Given the description of an element on the screen output the (x, y) to click on. 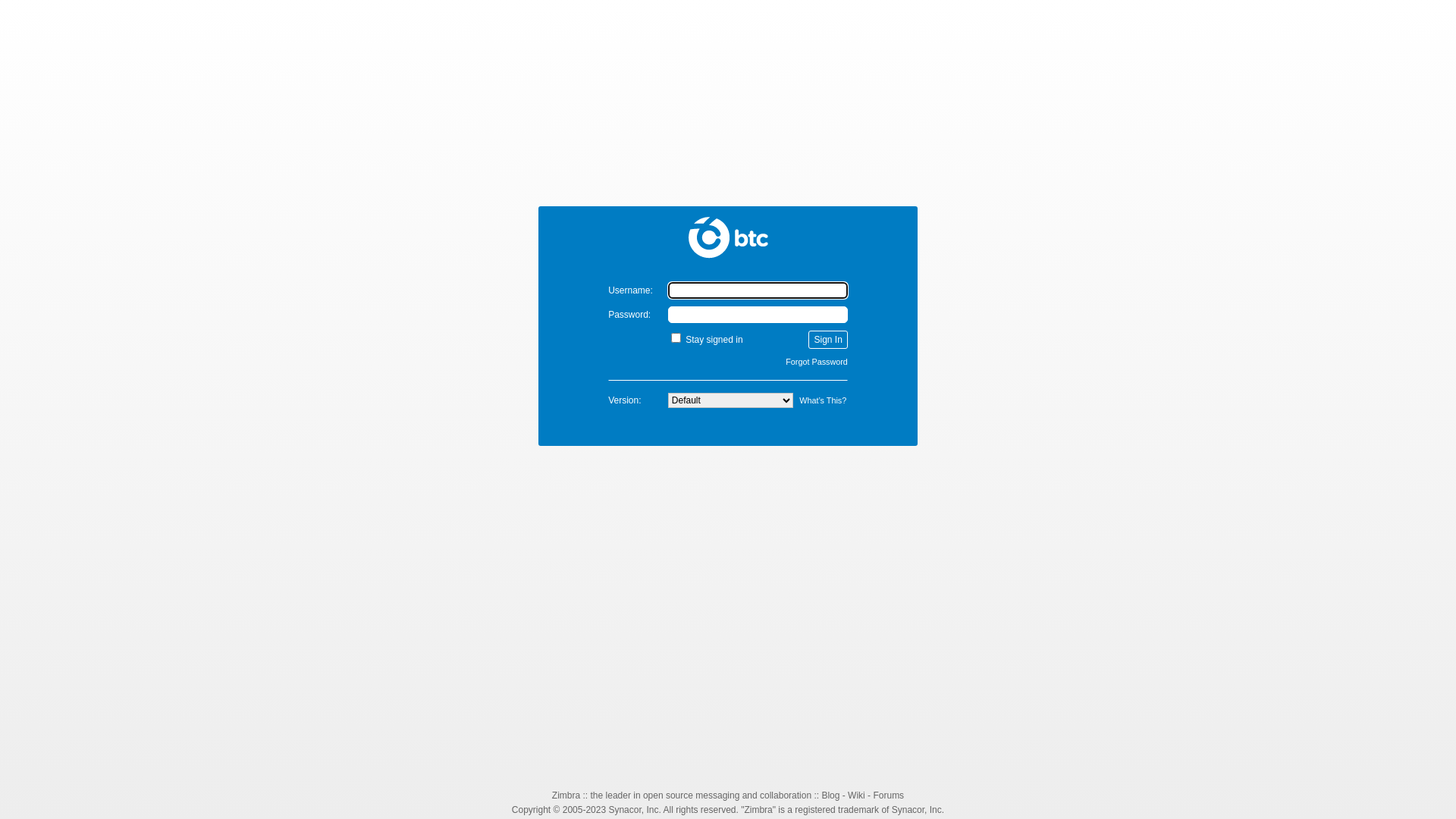
Blog Element type: text (830, 795)
Zimbra Element type: text (566, 795)
Wiki Element type: text (856, 795)
Zimbra Element type: text (727, 236)
Forums Element type: text (887, 795)
Sign In Element type: text (827, 339)
Forgot Password Element type: text (816, 361)
